Given the description of an element on the screen output the (x, y) to click on. 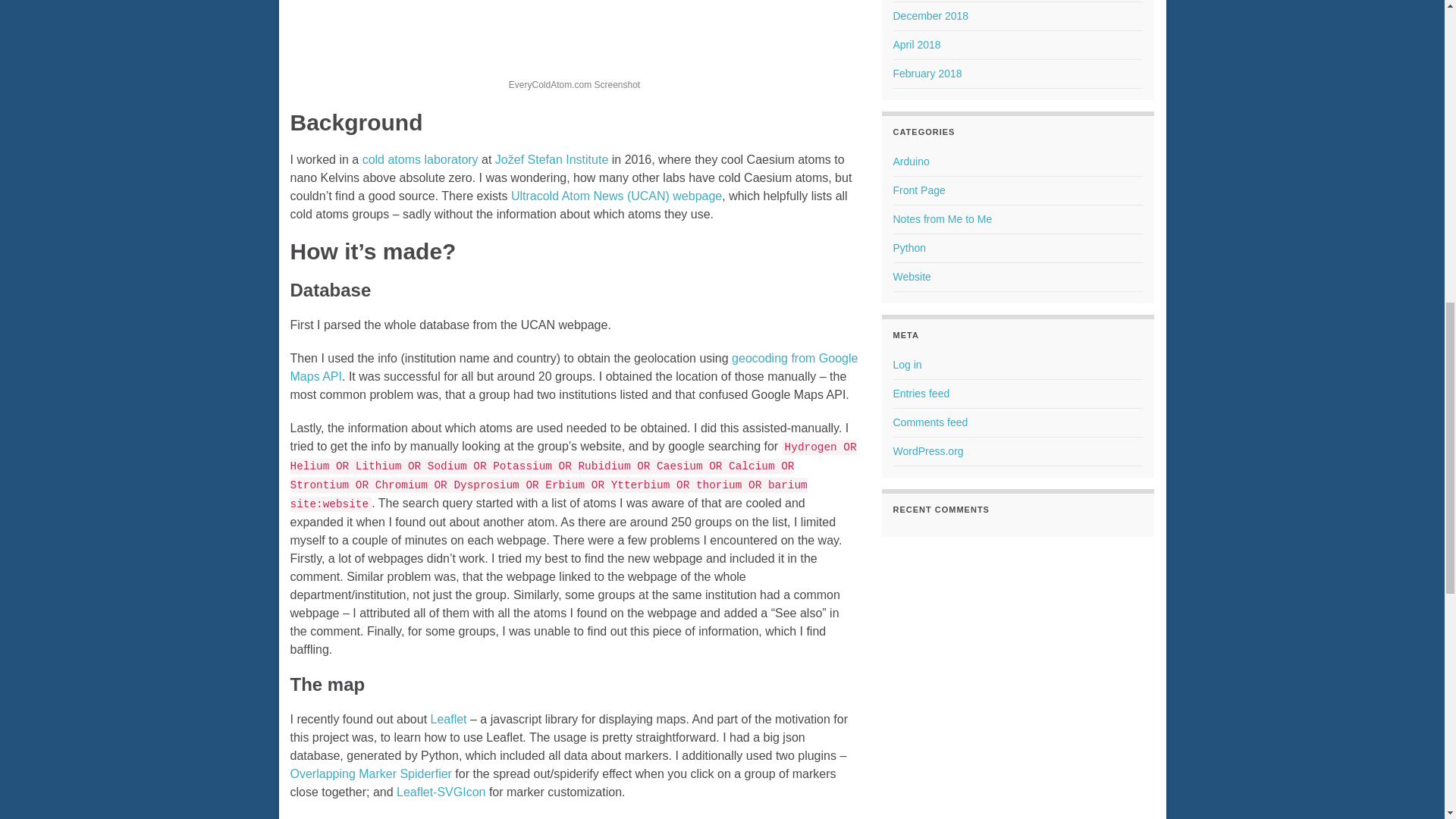
Leaflet (448, 718)
geocoding from Google Maps API (573, 367)
December 2018 (931, 15)
Overlapping Marker Spiderfier (370, 773)
Leaflet-SVGIcon (440, 791)
cold atoms laboratory (420, 159)
